Given the description of an element on the screen output the (x, y) to click on. 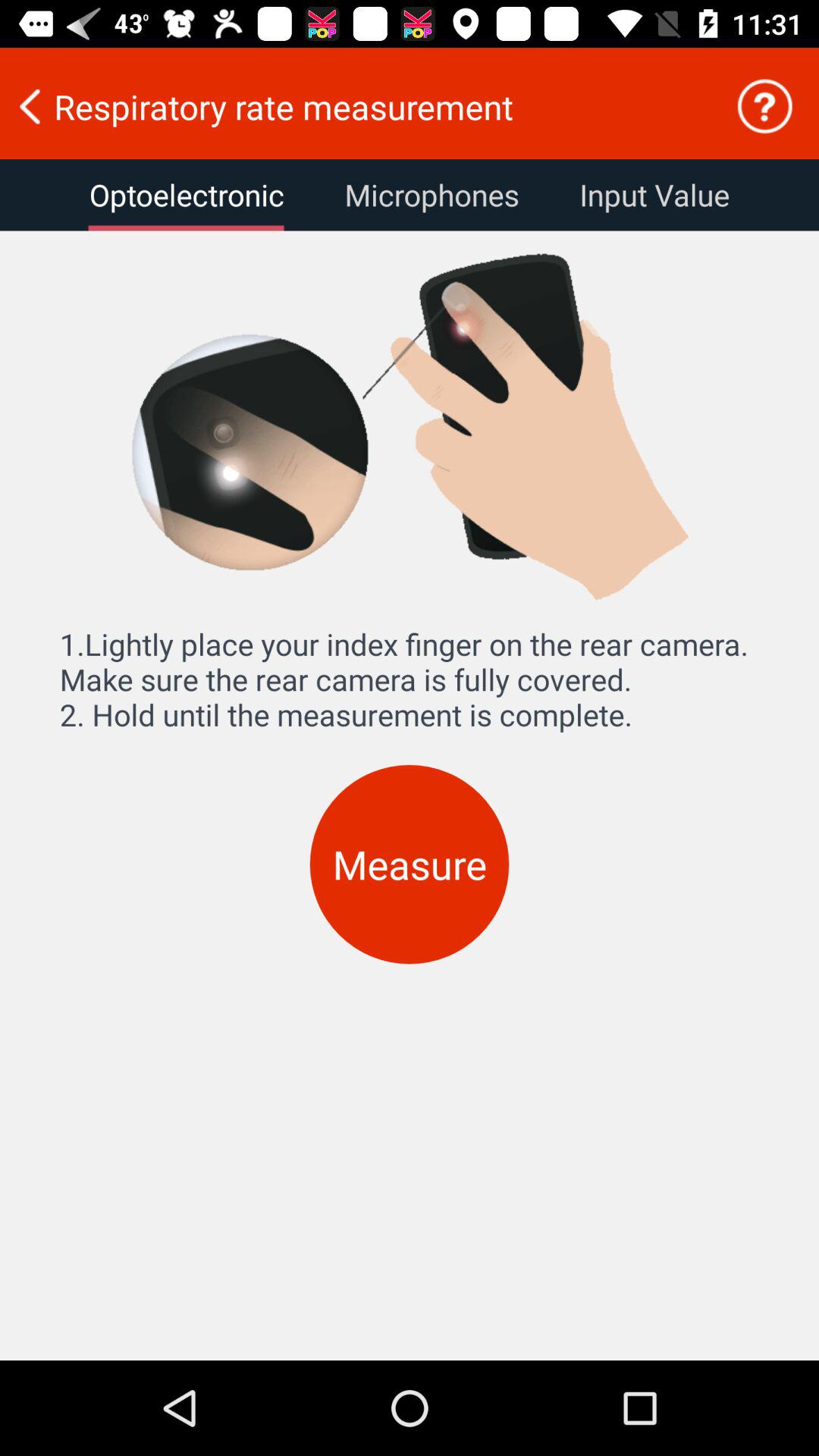
scroll to respiratory rate measurement item (357, 106)
